Given the description of an element on the screen output the (x, y) to click on. 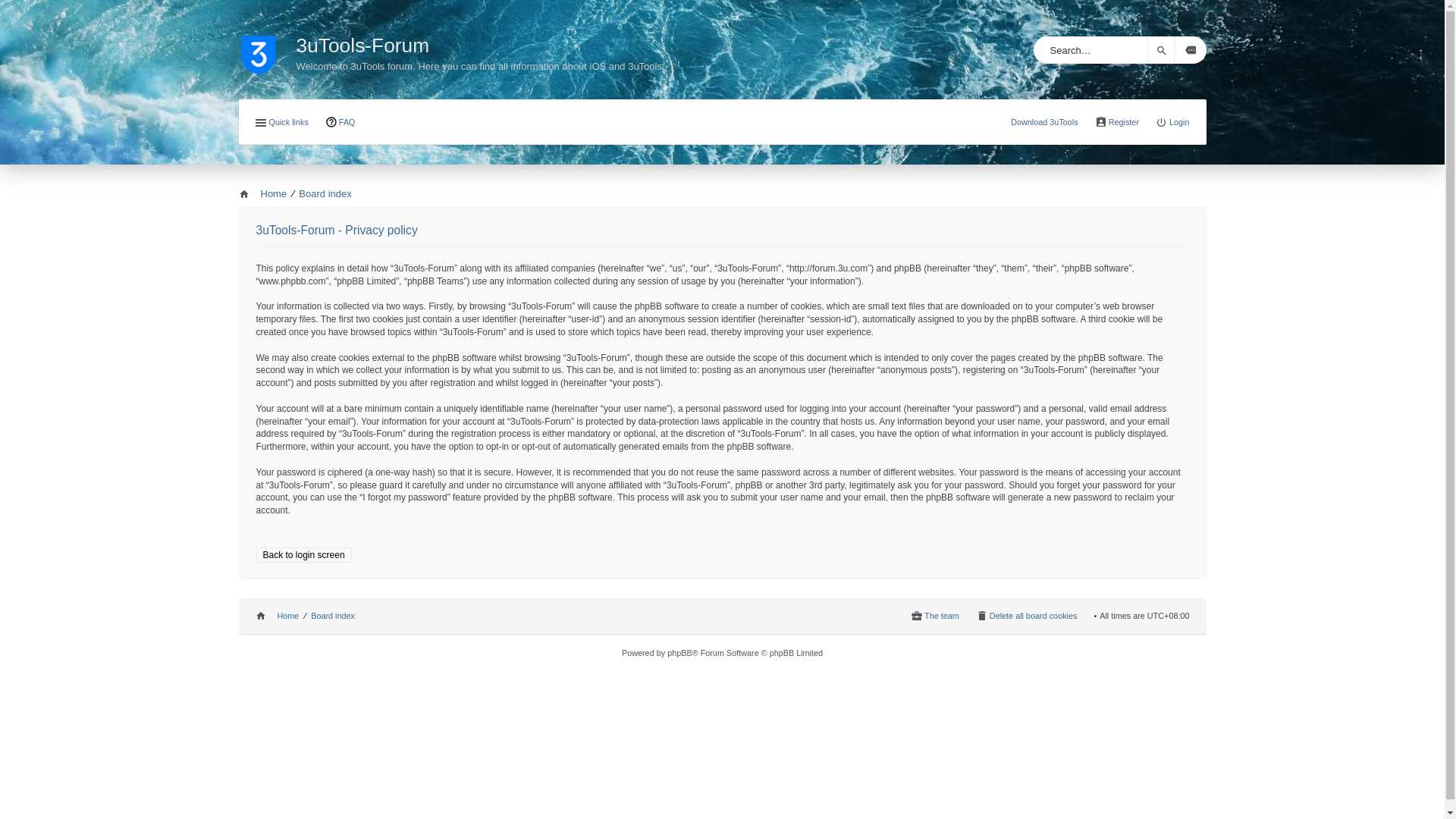
The team Element type: text (934, 616)
FAQ Element type: text (340, 122)
Register Element type: text (1117, 122)
Back to login screen Element type: text (303, 554)
Search for keywords Element type: hover (1089, 49)
Login Element type: text (1172, 122)
Delete all board cookies Element type: text (1026, 616)
Advanced search Element type: text (1189, 49)
phpBB Element type: text (679, 652)
Home Element type: text (262, 194)
Board index Element type: text (332, 616)
Home Element type: text (276, 616)
Quick links Element type: text (280, 122)
Download 3uTools Element type: text (1044, 121)
Home Element type: hover (266, 45)
Board index Element type: text (324, 194)
Search Element type: text (1159, 49)
